Given the description of an element on the screen output the (x, y) to click on. 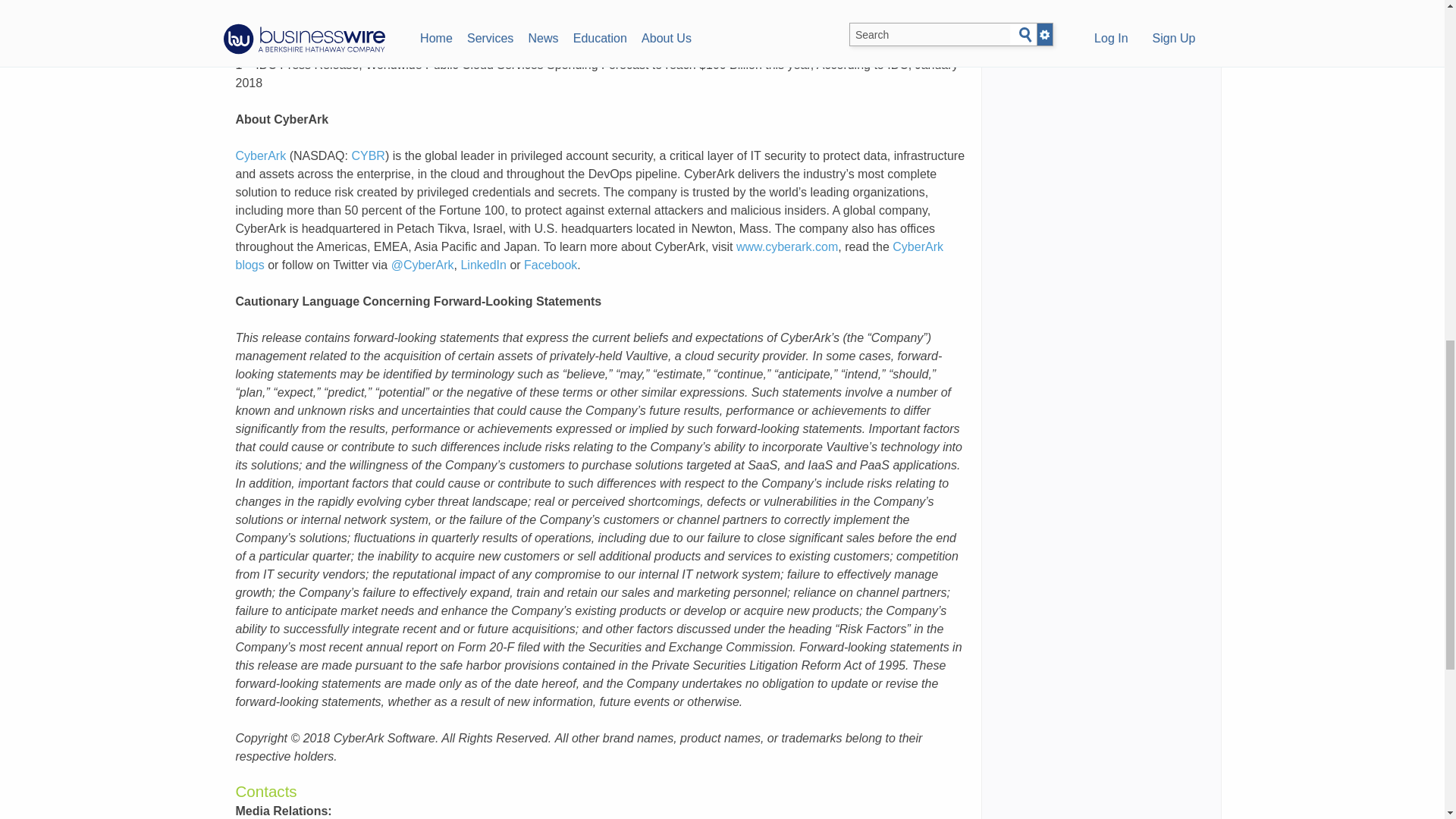
CyberArk (259, 155)
LinkedIn (483, 264)
in AWS in 15 minutes or less (503, 10)
Facebook (550, 264)
www.cyberark.com (787, 246)
CyberArk blogs (588, 255)
CYBR (367, 155)
privileged access (321, 28)
